Given the description of an element on the screen output the (x, y) to click on. 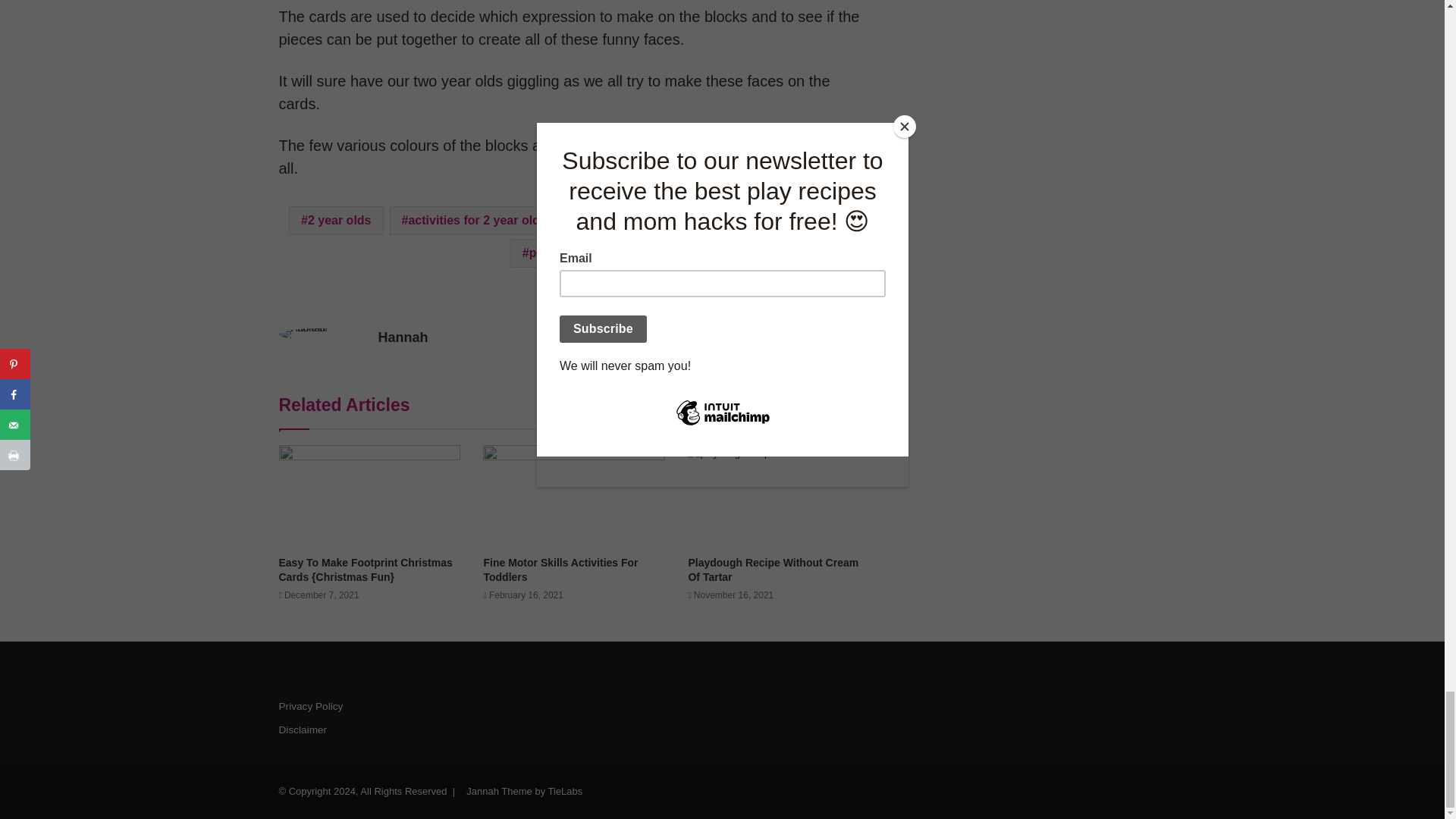
hand-eye coordination (775, 220)
fine motor skills (626, 220)
activities for 2 year olds (474, 220)
2 year olds (336, 220)
